Given the description of an element on the screen output the (x, y) to click on. 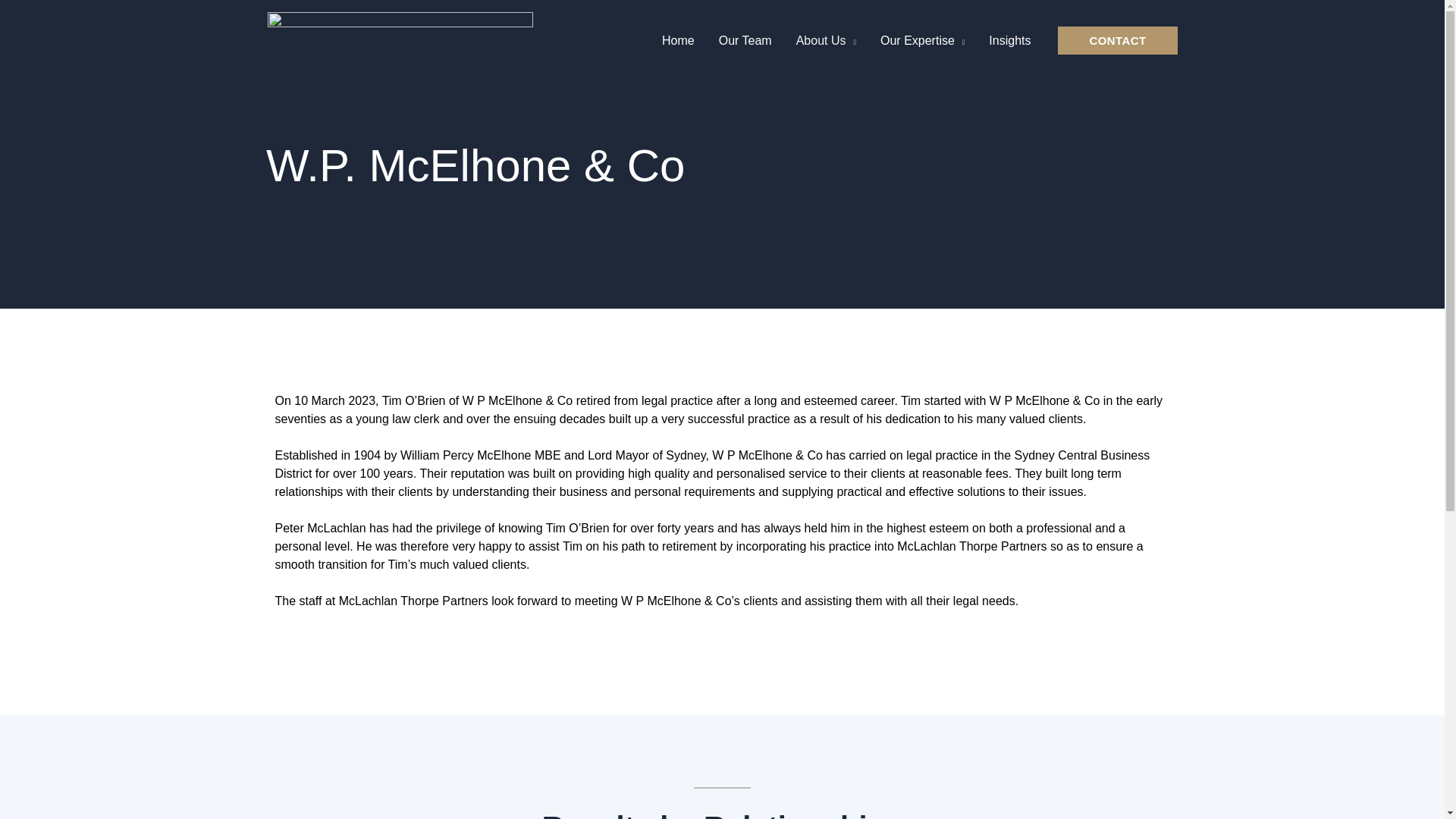
Our Team (745, 39)
About Us (825, 39)
Insights (1009, 39)
Home (677, 39)
Our Expertise (921, 39)
CONTACT (1117, 40)
